Given the description of an element on the screen output the (x, y) to click on. 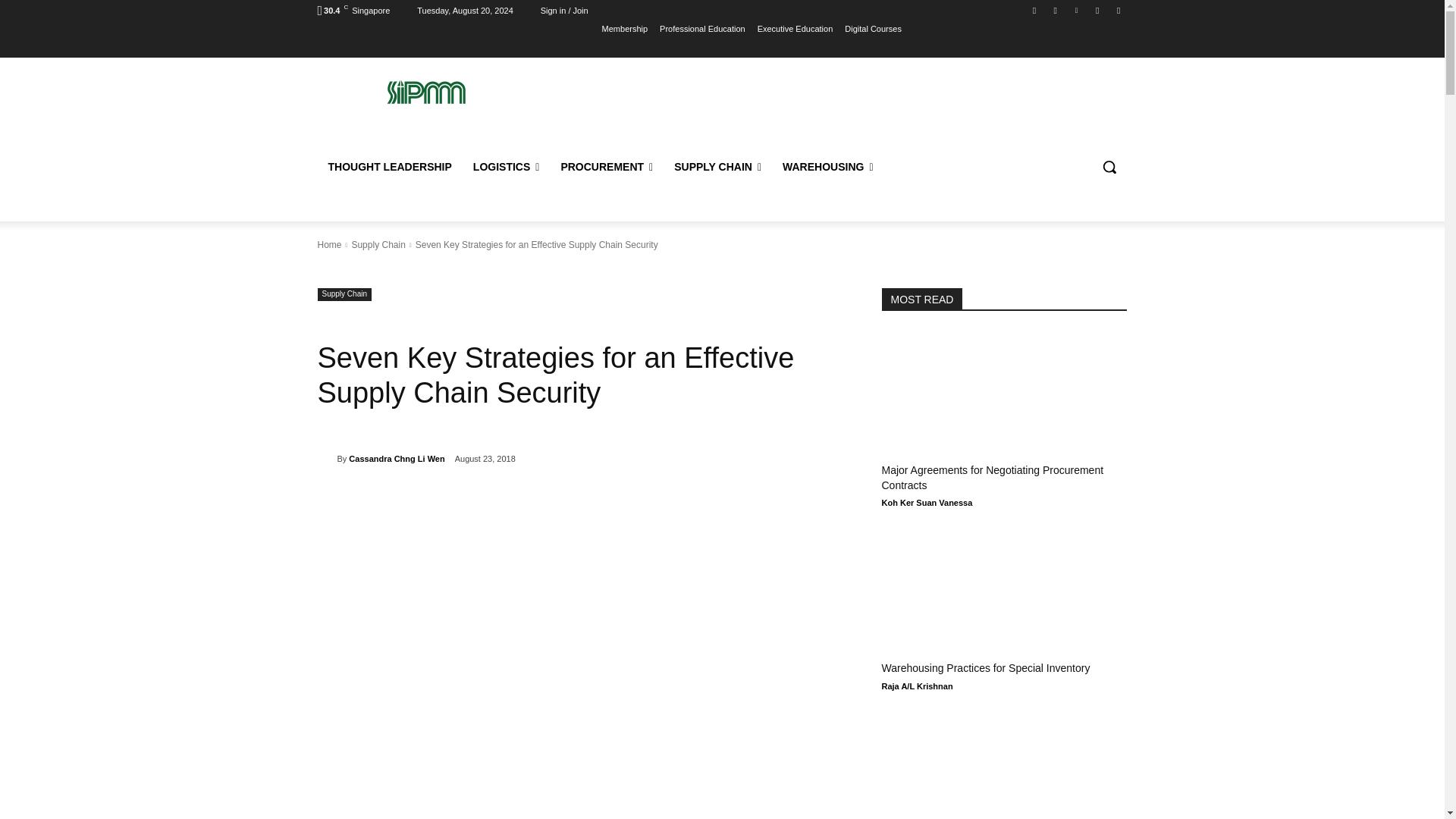
Youtube (1117, 9)
Twitter (1097, 9)
Professional Education (702, 28)
Digital Courses (872, 28)
Linkedin (1075, 9)
Facebook (1034, 9)
Singapore Institute of Purchasing and Materials Management (425, 91)
LOGISTICS (506, 166)
Executive Education (794, 28)
THOUGHT LEADERSHIP (389, 166)
